Given the description of an element on the screen output the (x, y) to click on. 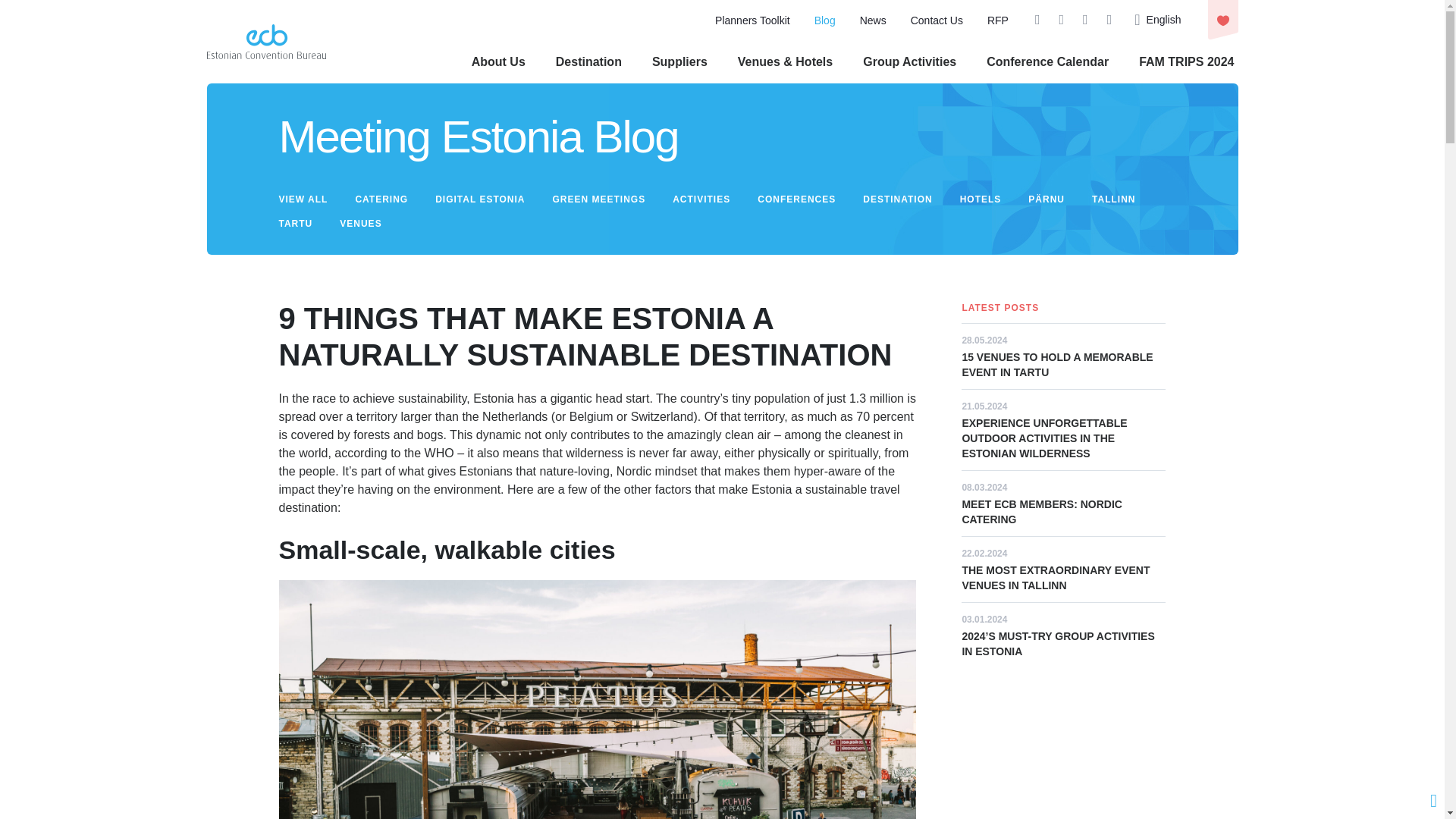
English (1157, 19)
Blog (824, 19)
Planners Toolkit (752, 19)
News (873, 19)
Contact Us (936, 19)
Search (997, 98)
RFP (998, 19)
English (1157, 19)
Group Activities (909, 60)
About Us (498, 60)
